Given the description of an element on the screen output the (x, y) to click on. 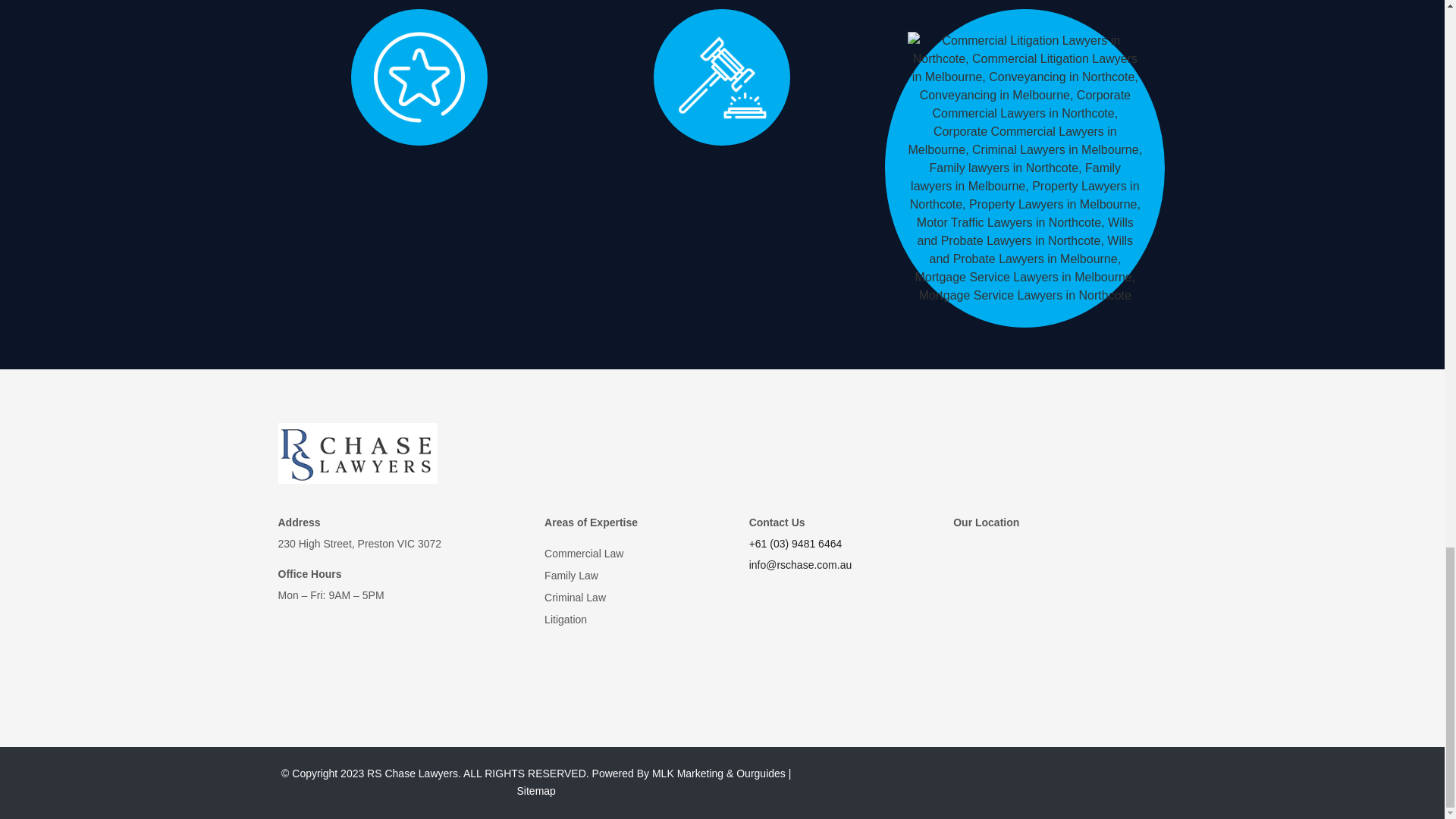
star (419, 77)
law (722, 77)
Powered By MLK Marketing (657, 773)
